Given the description of an element on the screen output the (x, y) to click on. 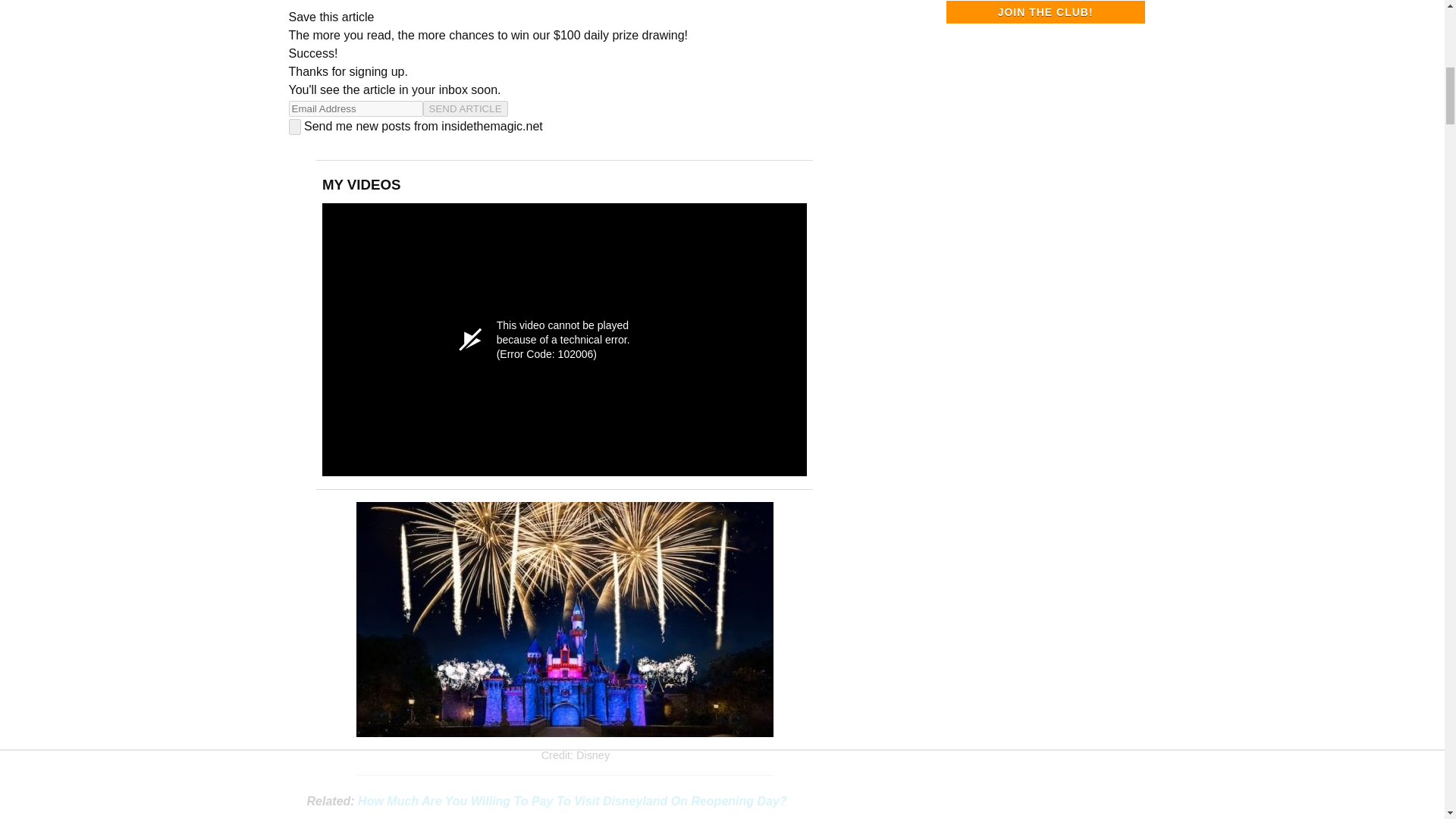
Join The Club! (1045, 11)
